Given the description of an element on the screen output the (x, y) to click on. 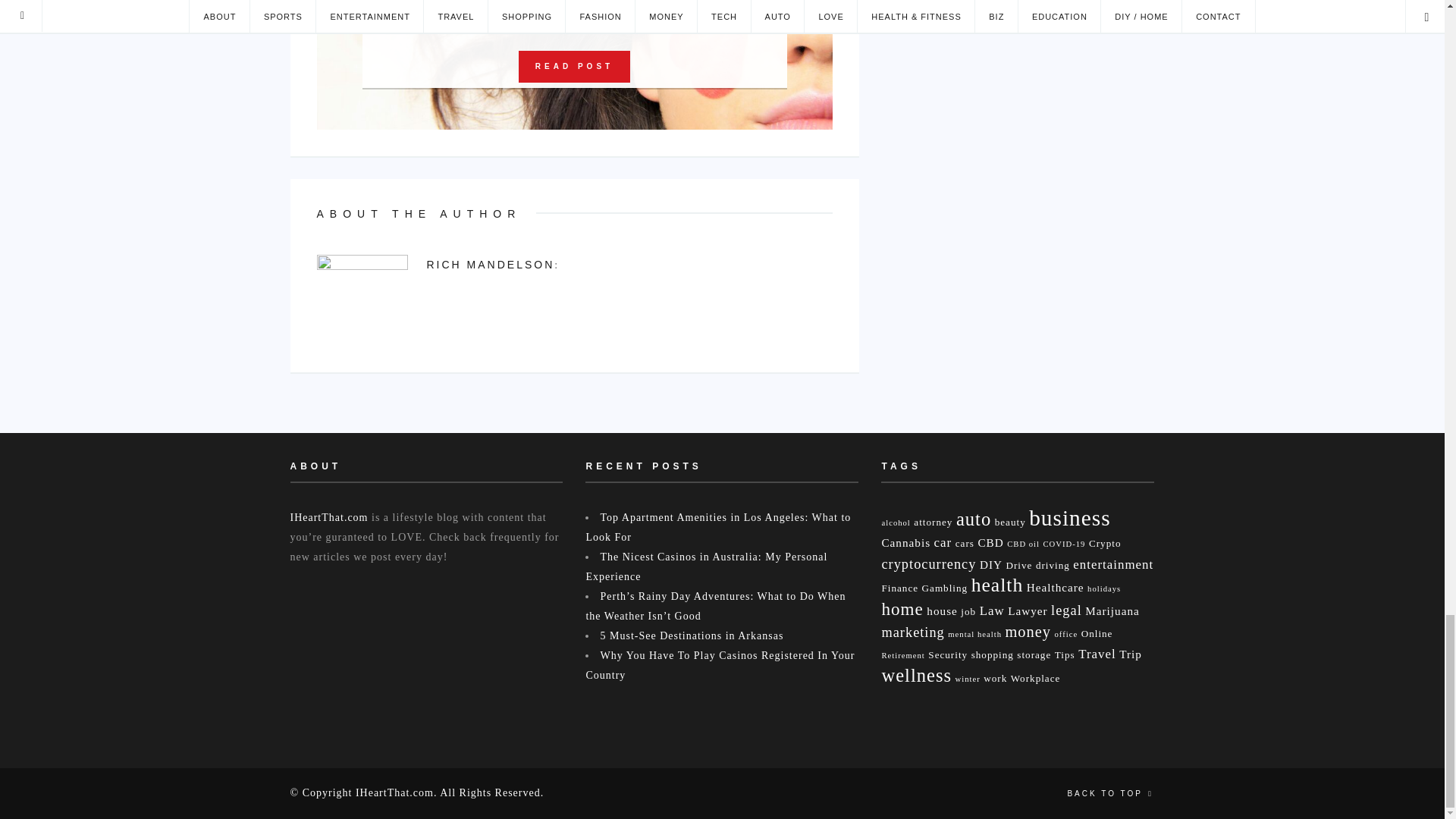
READ POST (574, 66)
